Given the description of an element on the screen output the (x, y) to click on. 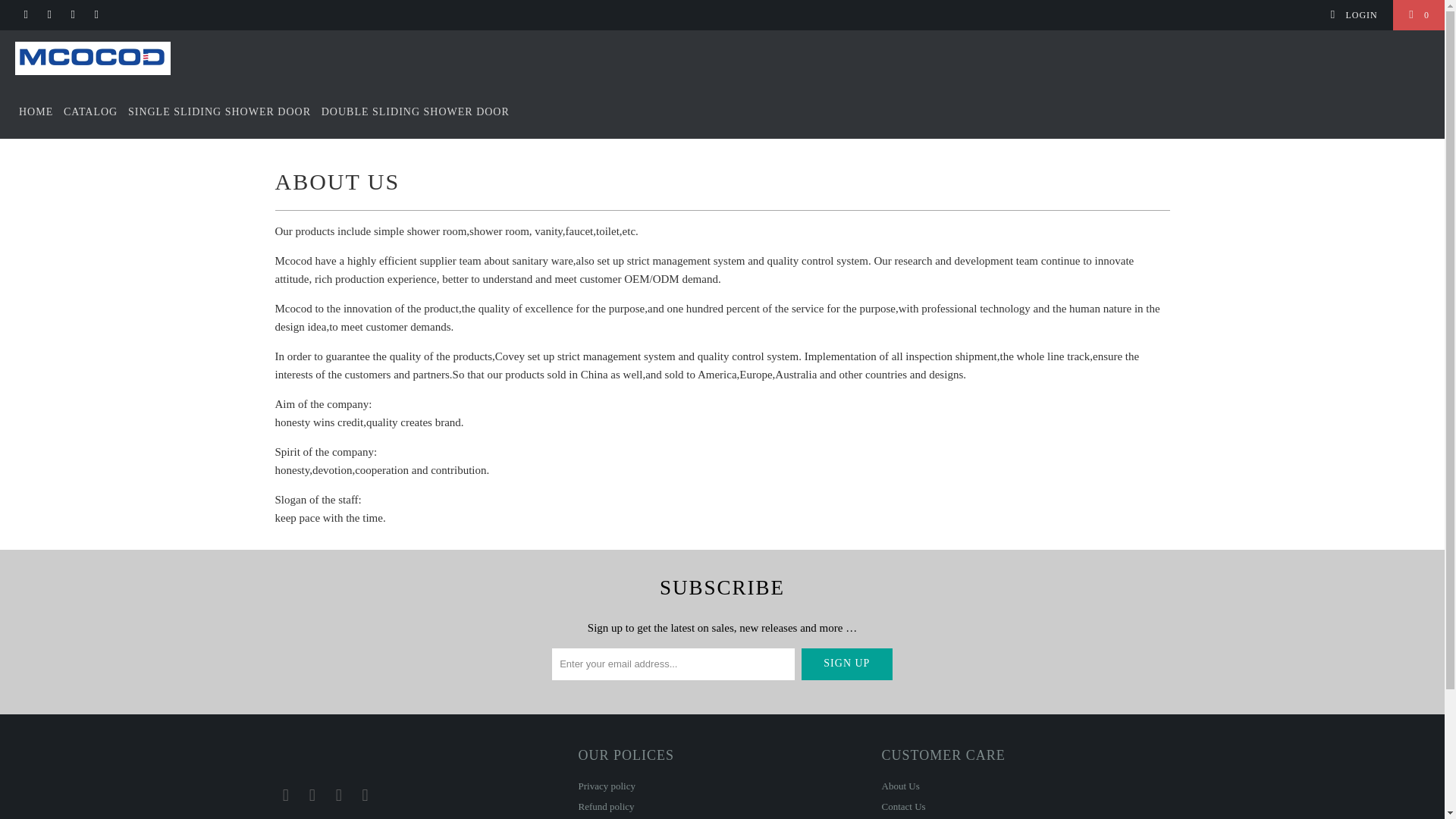
Contact Us (902, 806)
My Account  (1352, 15)
Refund policy (605, 806)
Sign Up (847, 664)
Sign Up (847, 664)
SINGLE SLIDING SHOWER DOOR (219, 112)
USMCOCOD.COM on Twitter (286, 795)
Privacy policy (606, 785)
USMCOCOD.COM on Facebook (312, 795)
USMCOCOD.COM on Twitter (25, 14)
